Given the description of an element on the screen output the (x, y) to click on. 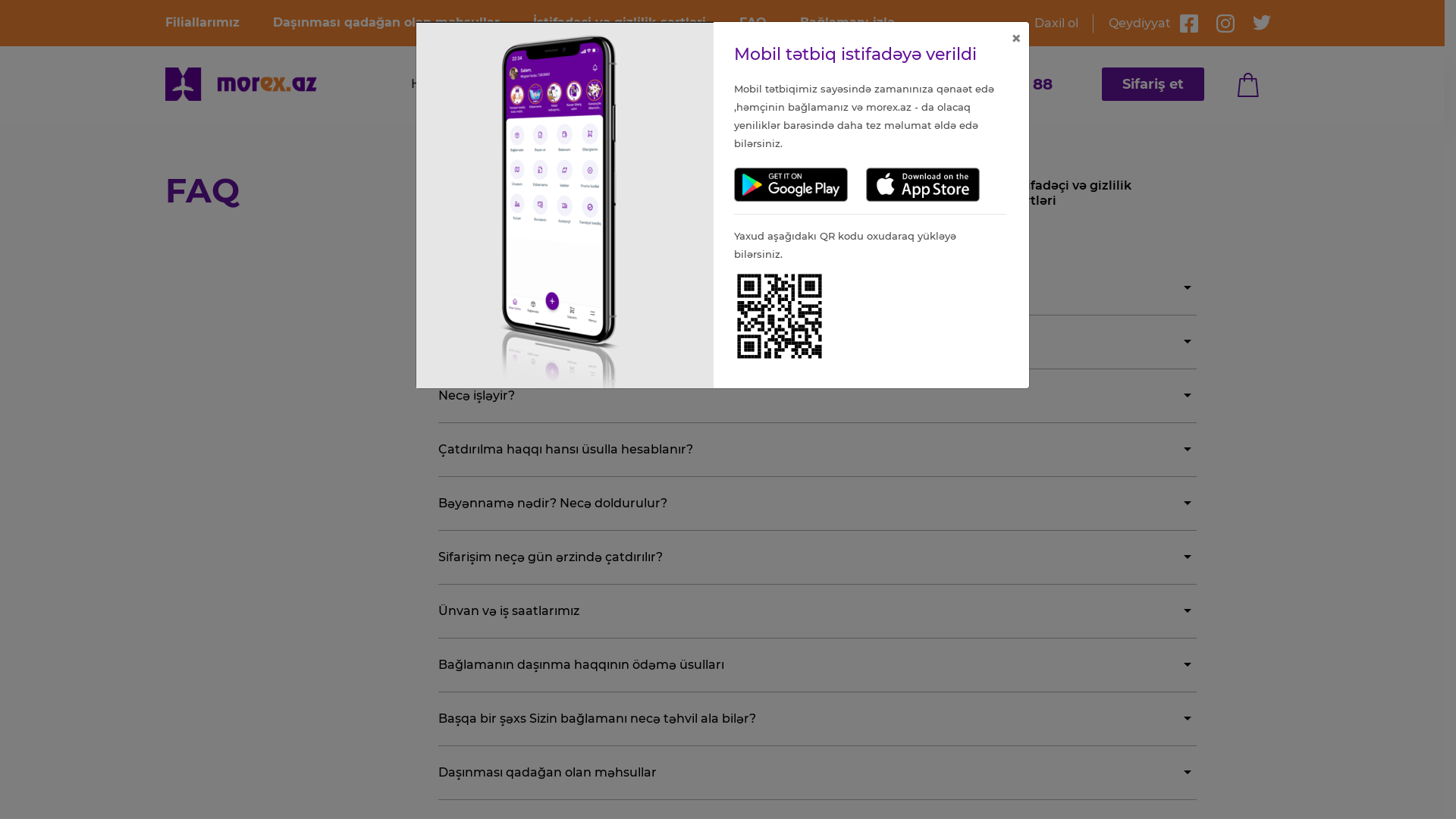
Daxil ol Element type: text (1063, 22)
Qeydiyyat Element type: text (1131, 22)
FAQ Element type: text (768, 22)
+994 12 310 87 88 Element type: text (986, 83)
